Given the description of an element on the screen output the (x, y) to click on. 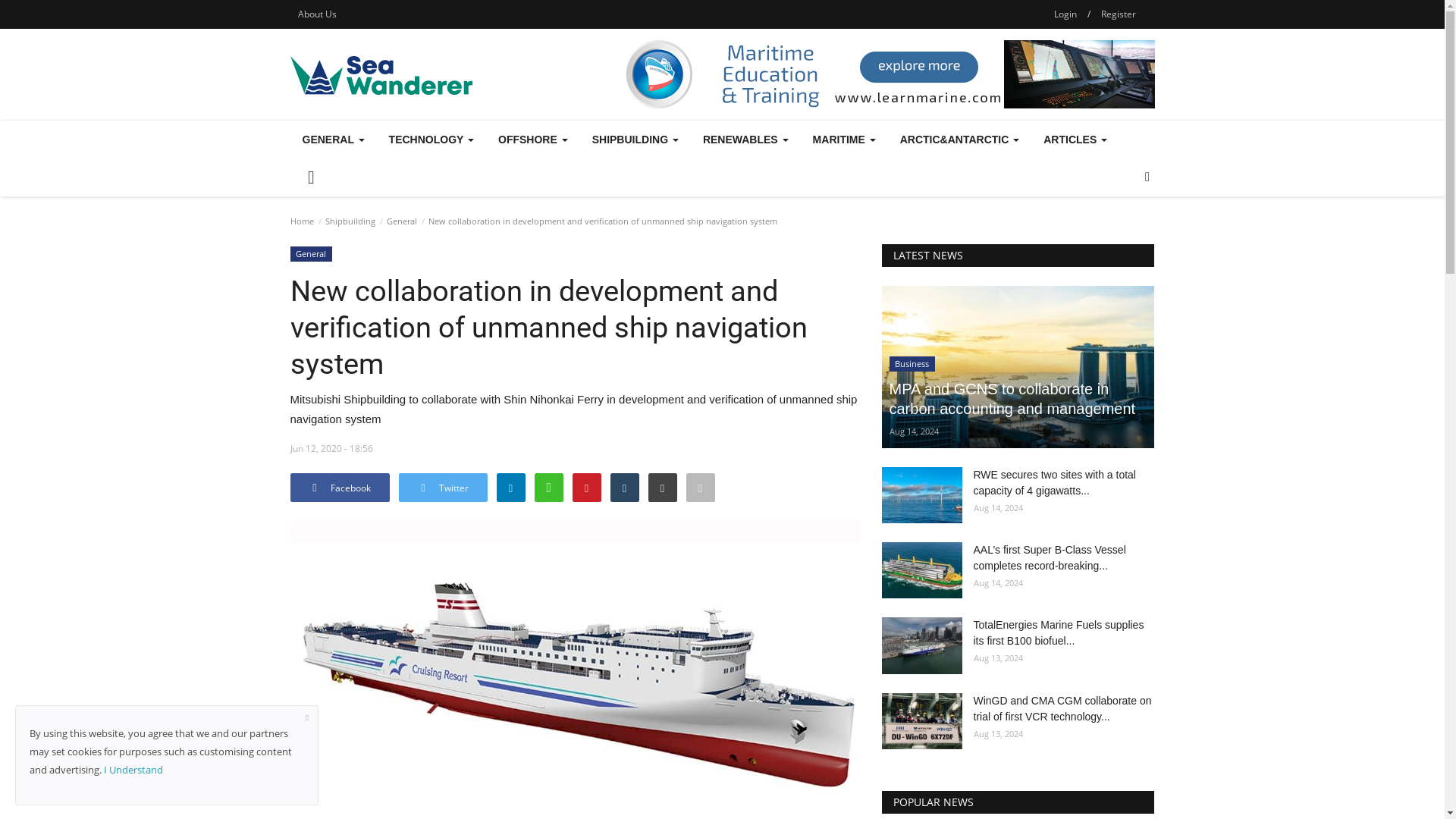
About Us (316, 14)
Register (1117, 14)
GENERAL (332, 139)
Login (1065, 14)
